Given the description of an element on the screen output the (x, y) to click on. 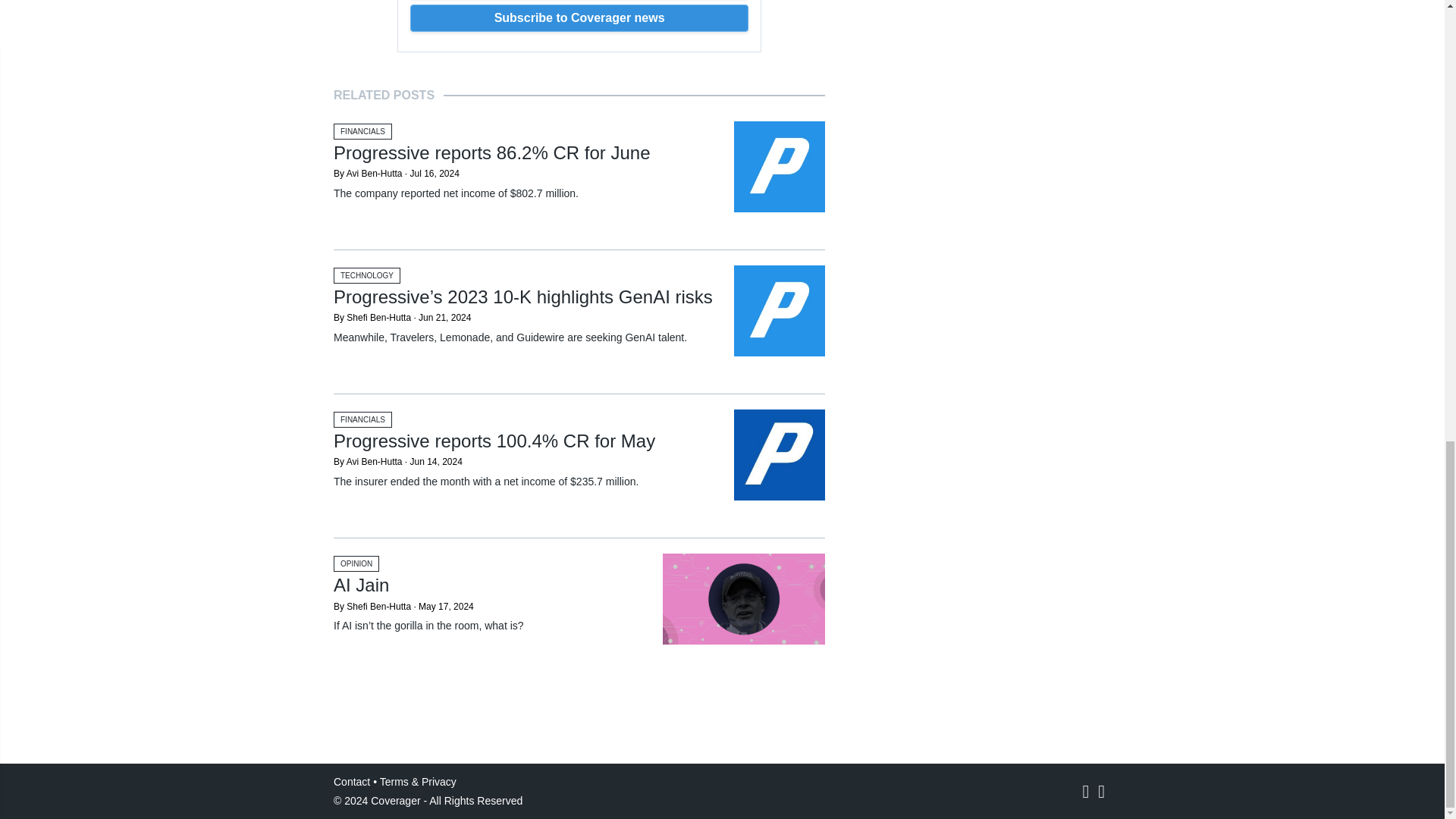
Subscribe to Coverager news (579, 17)
